Given the description of an element on the screen output the (x, y) to click on. 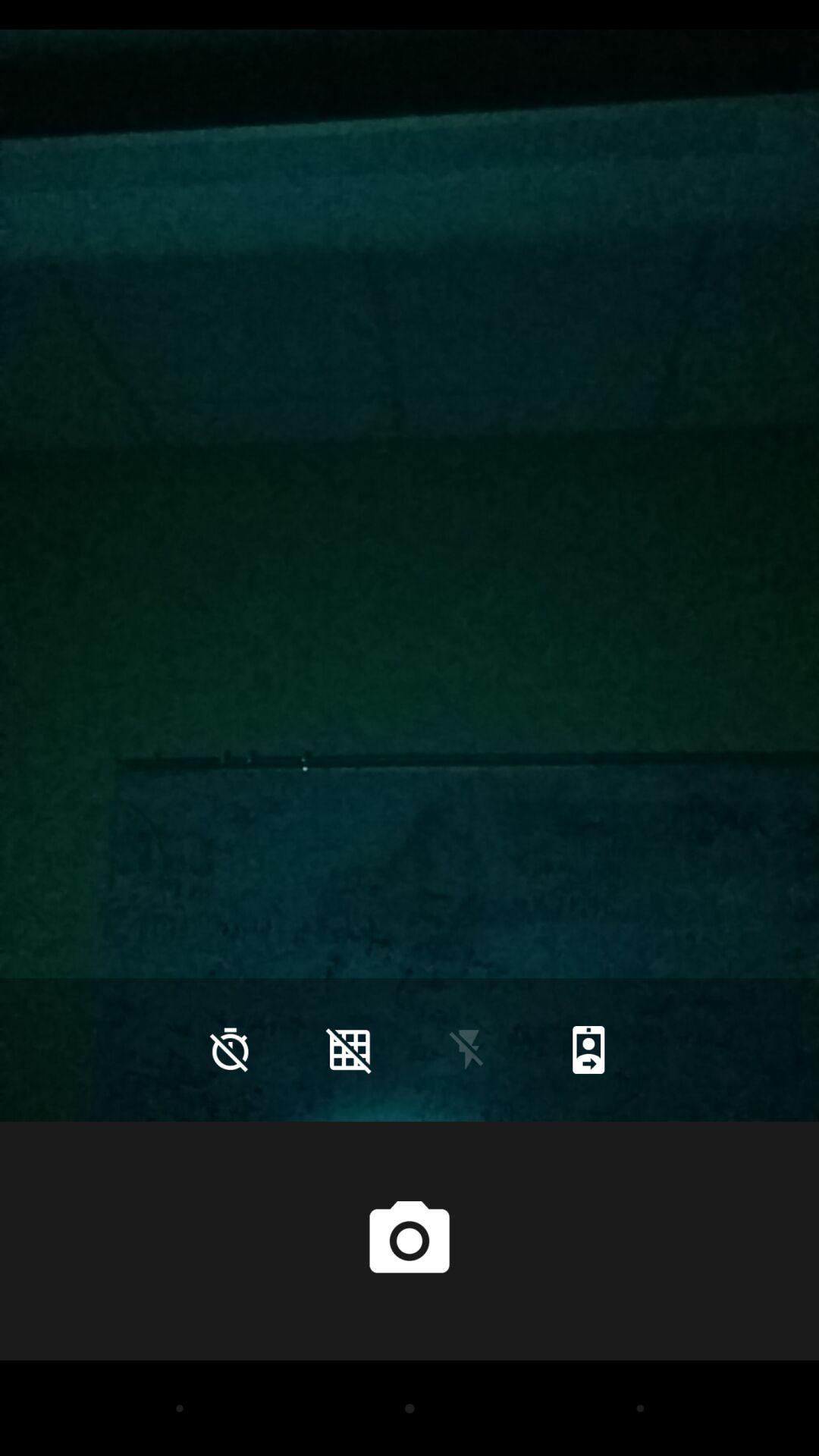
turn off item at the bottom right corner (588, 1049)
